Given the description of an element on the screen output the (x, y) to click on. 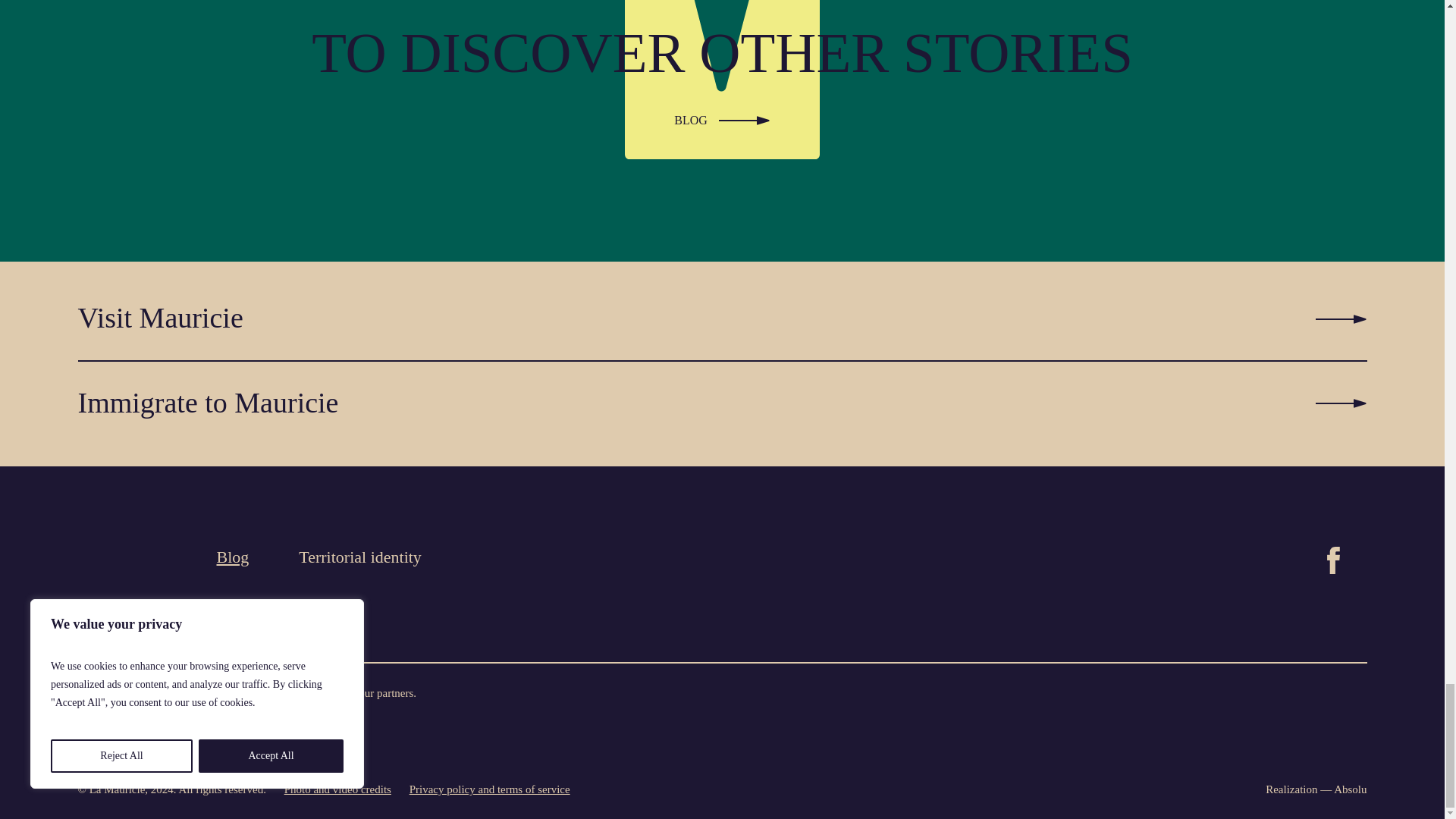
Privacy policy and terms of service (482, 788)
Territorial identity (360, 557)
Absolu (1350, 788)
Immigrate to Mauricie (722, 402)
Blog (232, 557)
Visit Mauricie (722, 318)
BLOG (722, 116)
Photo and video credits (330, 788)
